Given the description of an element on the screen output the (x, y) to click on. 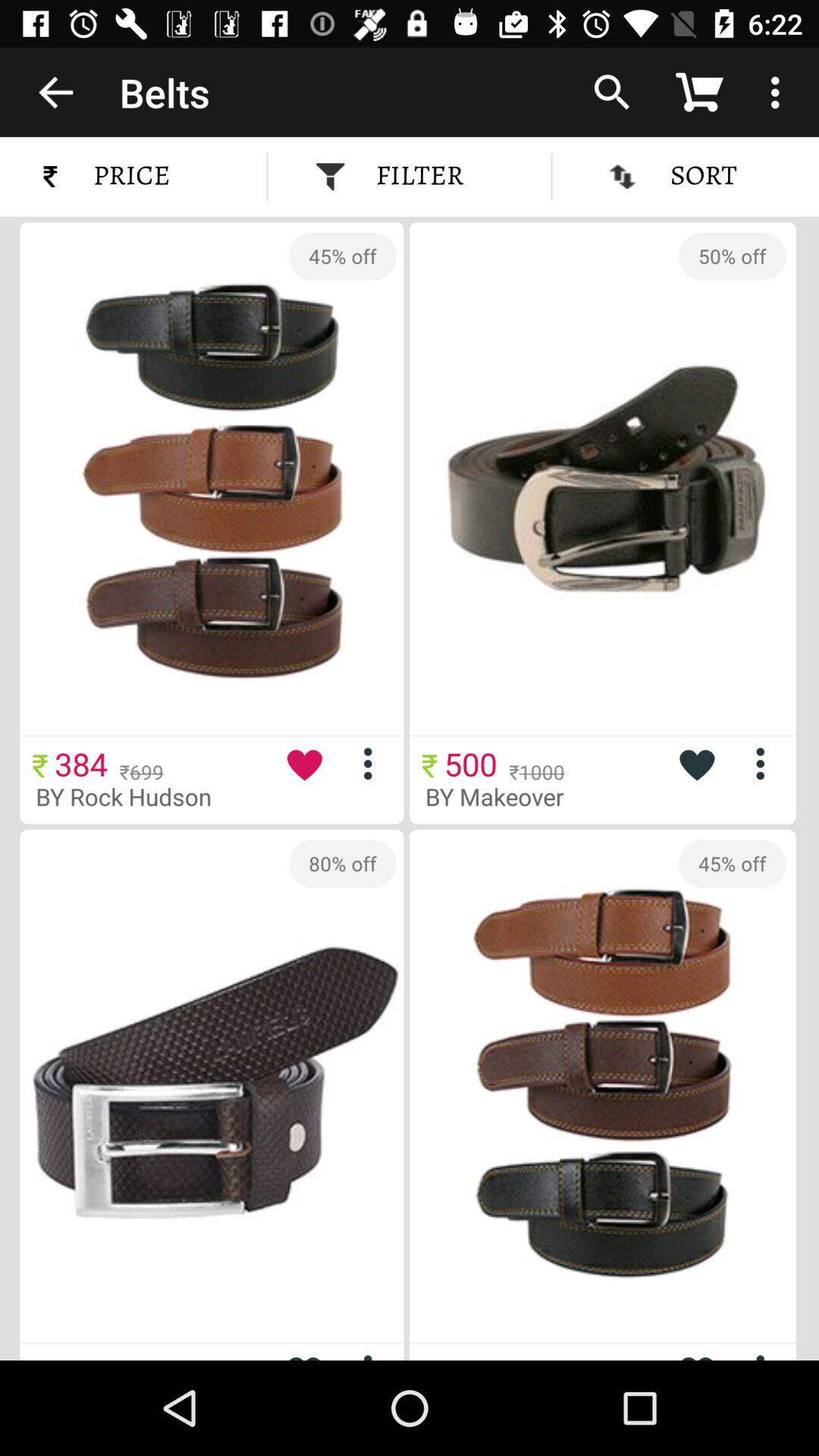
turn on the price icon (125, 176)
